Given the description of an element on the screen output the (x, y) to click on. 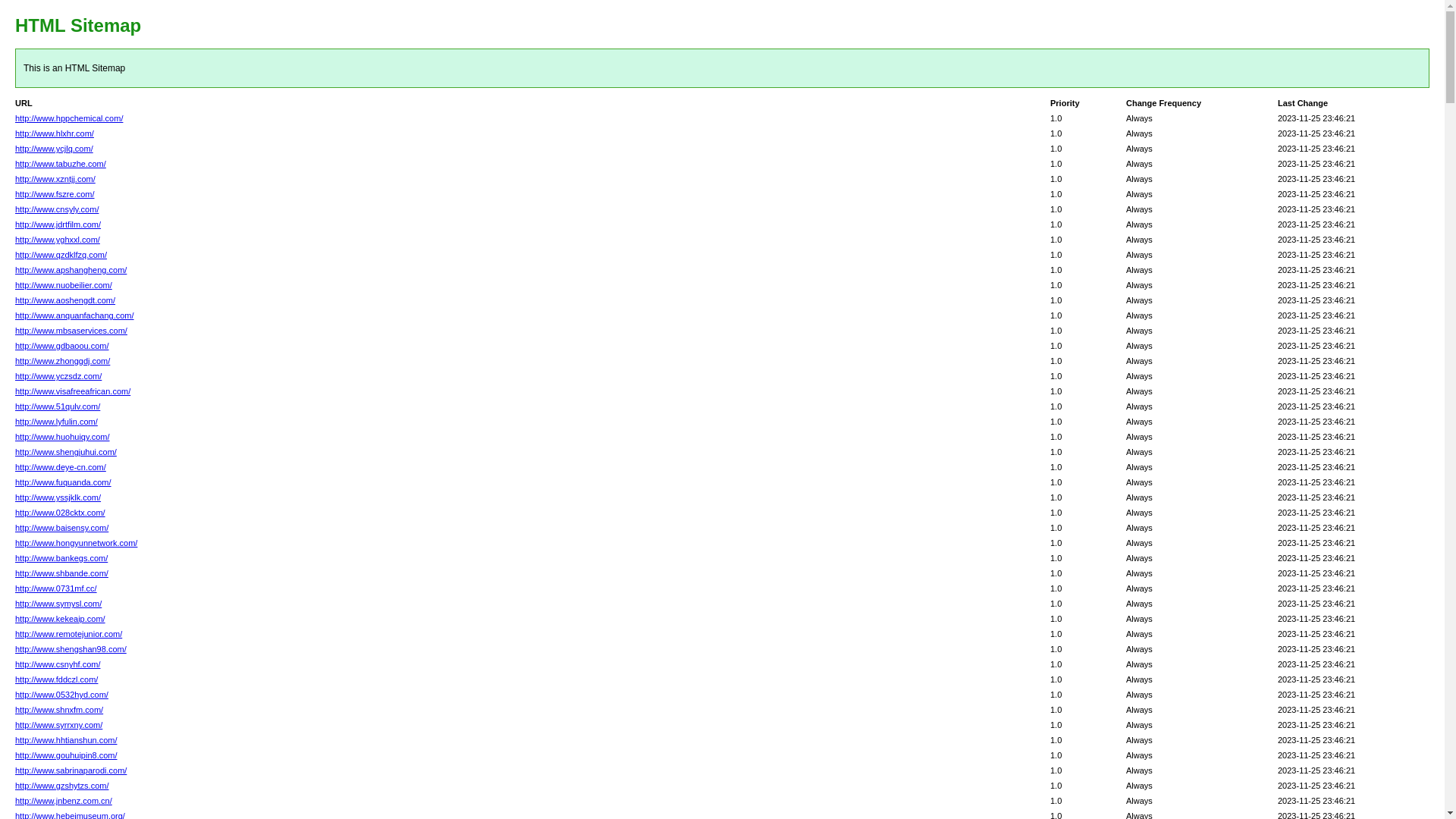
http://www.nuobeilier.com/ Element type: text (63, 284)
http://www.shengshan98.com/ Element type: text (70, 648)
http://www.visafreeafrican.com/ Element type: text (72, 390)
http://www.anquanfachang.com/ Element type: text (74, 315)
http://www.cnsyly.com/ Element type: text (56, 208)
http://www.xzntjj.com/ Element type: text (55, 178)
http://www.gouhuipin8.com/ Element type: text (66, 754)
http://www.yghxxl.com/ Element type: text (57, 239)
http://www.bankegs.com/ Element type: text (61, 557)
http://www.apshangheng.com/ Element type: text (70, 269)
http://www.baisensy.com/ Element type: text (61, 527)
http://www.jnbenz.com.cn/ Element type: text (63, 800)
http://www.csnyhf.com/ Element type: text (57, 663)
http://www.0731mf.cc/ Element type: text (56, 588)
http://www.qzdklfzq.com/ Element type: text (60, 254)
http://www.gzshytzs.com/ Element type: text (61, 785)
http://www.jdrtfilm.com/ Element type: text (57, 224)
http://www.shengjuhui.com/ Element type: text (65, 451)
http://www.tabuzhe.com/ Element type: text (60, 163)
http://www.aoshengdt.com/ Element type: text (65, 299)
http://www.fszre.com/ Element type: text (54, 193)
http://www.sabrinaparodi.com/ Element type: text (70, 770)
http://www.remotejunior.com/ Element type: text (68, 633)
http://www.hhtianshun.com/ Element type: text (66, 739)
http://www.fuquanda.com/ Element type: text (63, 481)
http://www.zhonggdj.com/ Element type: text (62, 360)
http://www.yczsdz.com/ Element type: text (58, 375)
http://www.028cktx.com/ Element type: text (60, 512)
http://www.kekeaip.com/ Element type: text (60, 618)
http://www.hongyunnetwork.com/ Element type: text (76, 542)
http://www.0532hyd.com/ Element type: text (61, 694)
http://www.shbande.com/ Element type: text (61, 572)
http://www.hlxhr.com/ Element type: text (54, 133)
http://www.symysl.com/ Element type: text (58, 603)
http://www.yssjklk.com/ Element type: text (57, 497)
http://www.deye-cn.com/ Element type: text (60, 466)
http://www.gdbaoou.com/ Element type: text (62, 345)
http://www.51qulv.com/ Element type: text (57, 406)
http://www.shnxfm.com/ Element type: text (59, 709)
http://www.hppchemical.com/ Element type: text (68, 117)
http://www.lyfulin.com/ Element type: text (56, 421)
http://www.mbsaservices.com/ Element type: text (71, 330)
http://www.syrrxny.com/ Element type: text (58, 724)
http://www.huohuiqy.com/ Element type: text (62, 436)
http://www.fddczl.com/ Element type: text (56, 679)
http://www.ycjlq.com/ Element type: text (54, 148)
